Given the description of an element on the screen output the (x, y) to click on. 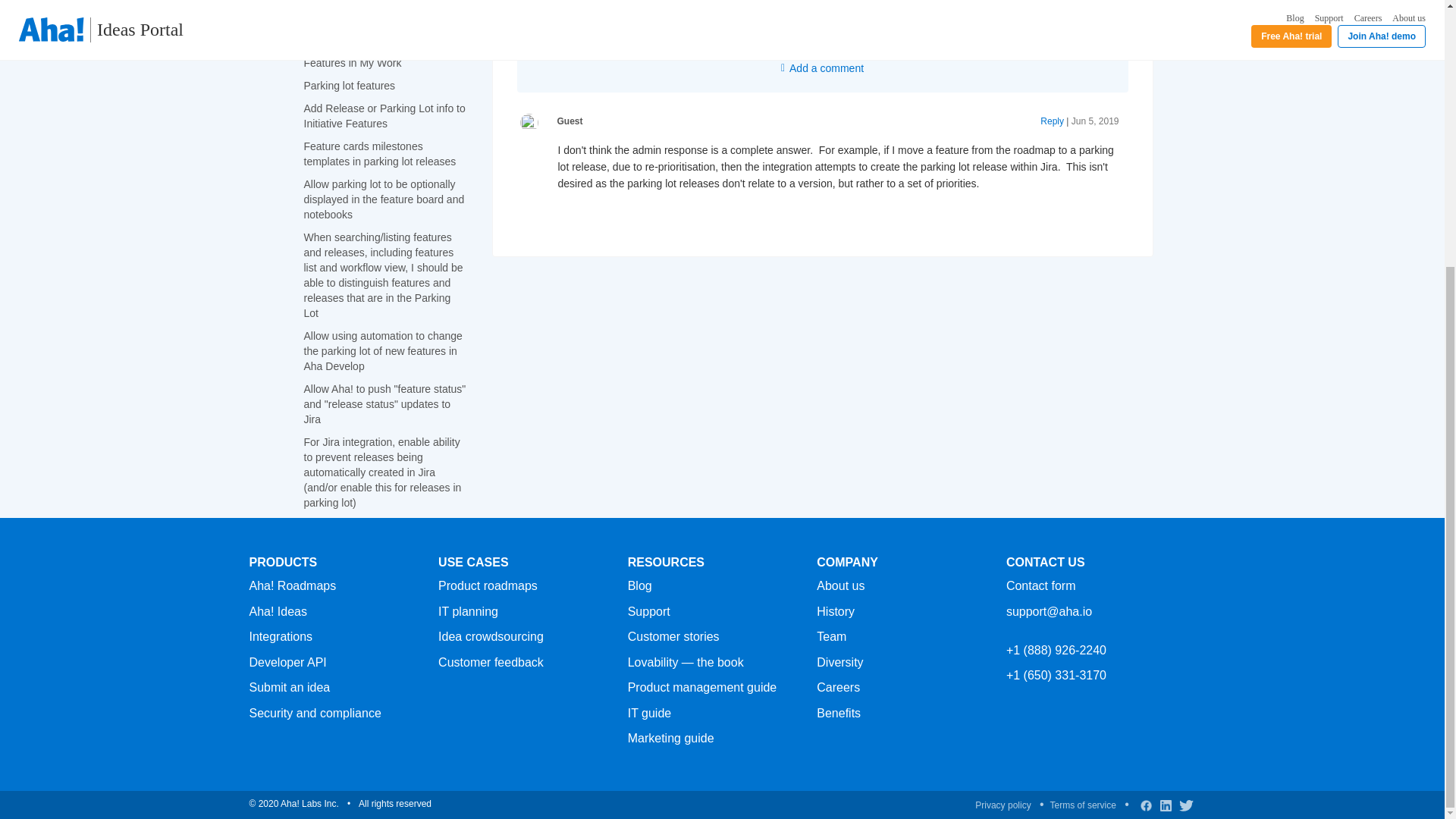
Parking lot features (348, 85)
Add Release or Parking Lot info to Initiative Features (383, 115)
Feature cards milestones templates in parking lot releases (378, 153)
Include Parking Lot Release Features in My Work (368, 54)
